Given the description of an element on the screen output the (x, y) to click on. 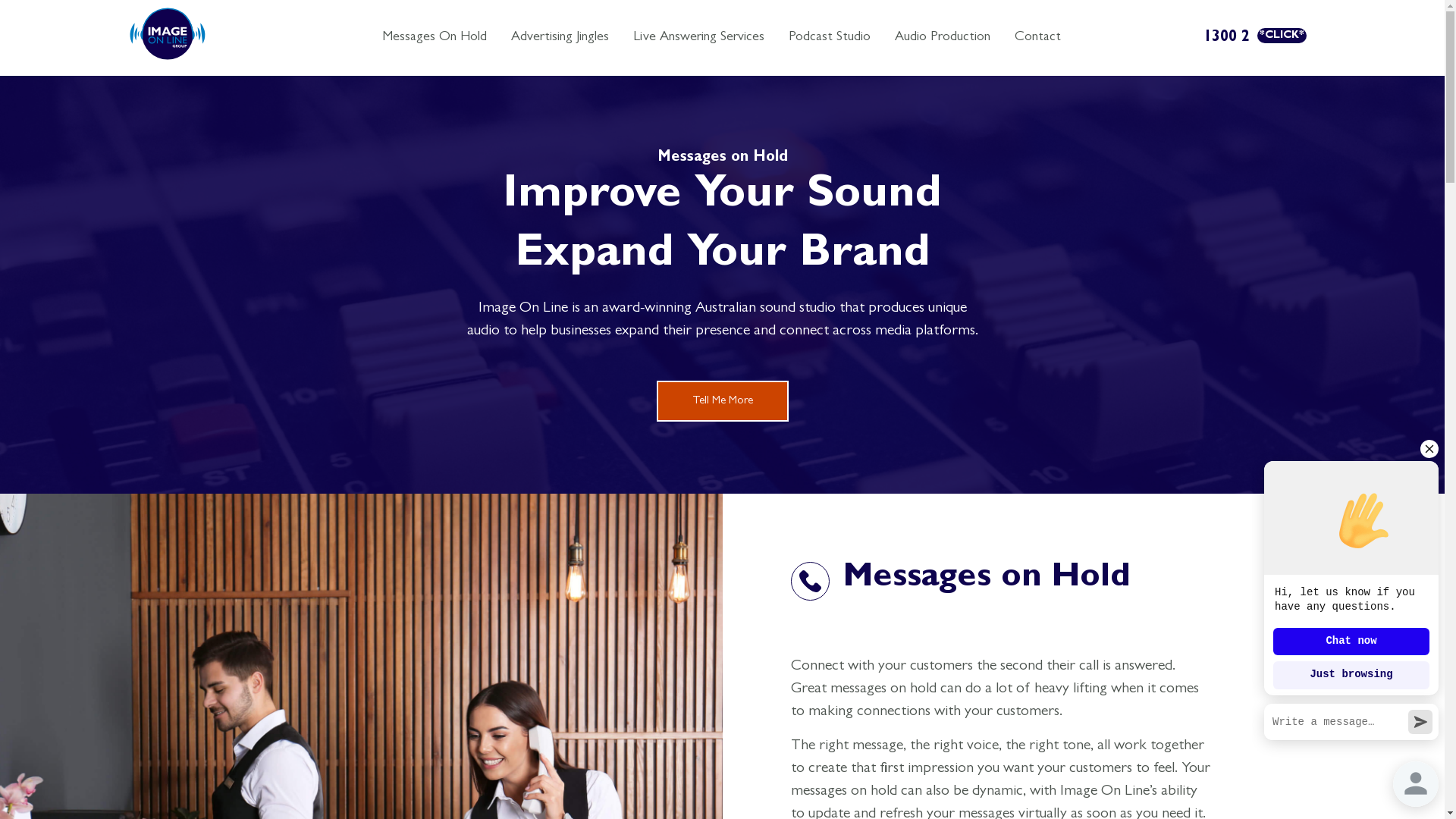
Advertising Jingles Element type: text (559, 38)
Contact Element type: text (1037, 38)
Tell Me More Element type: text (722, 400)
Message on Hold Element type: hover (166, 33)
1300 2 *CLICK* Element type: text (1253, 37)
Live Answering Services Element type: text (699, 38)
Audio Production Element type: text (942, 38)
Messages On Hold Element type: text (433, 38)
Podcast Studio Element type: text (829, 38)
